Given the description of an element on the screen output the (x, y) to click on. 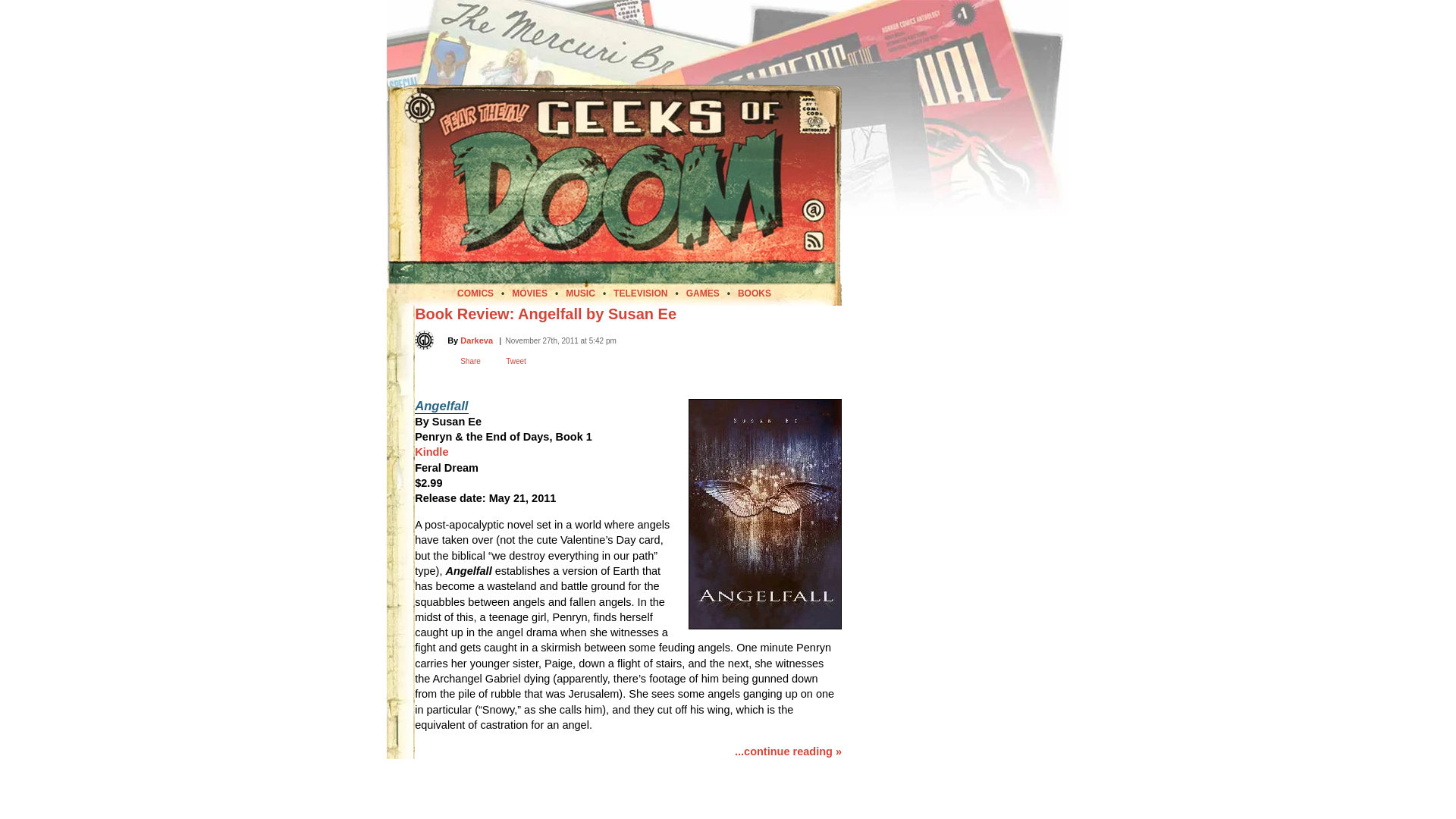
GAMES (702, 293)
COMICS (475, 293)
MOVIES (529, 293)
Permanent Link to Book Review: Angelfall by Susan Ee (545, 313)
BOOKS (754, 293)
View Darkeva's profile (476, 338)
Darkeva (476, 338)
MUSIC (580, 293)
Share (470, 361)
Tweet (515, 361)
